Given the description of an element on the screen output the (x, y) to click on. 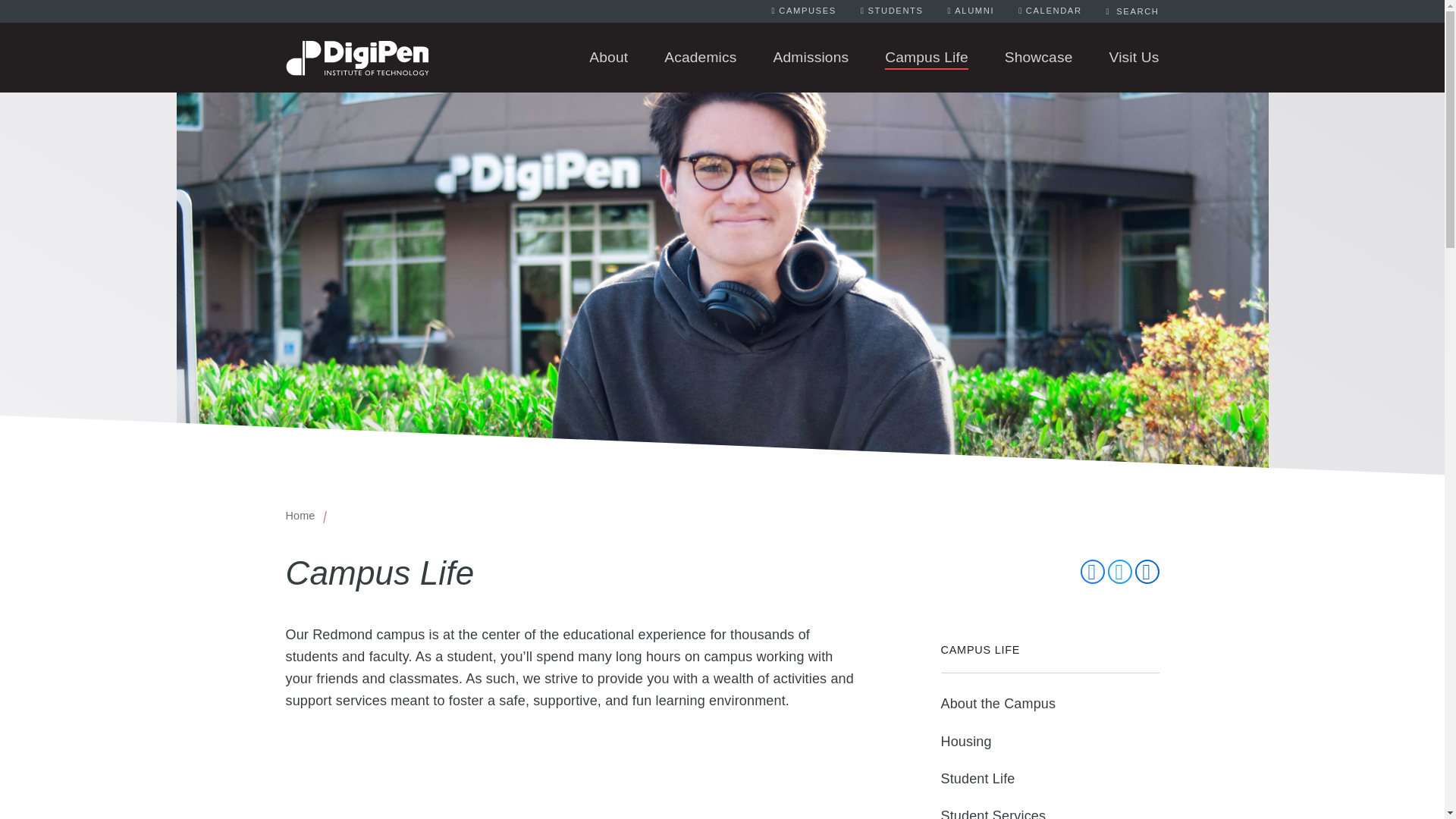
Admissions (792, 56)
DigiPen Institute of Technology (356, 57)
Academics (681, 56)
Homepage (356, 41)
CALENDAR (1049, 11)
DigiPen Institute of Technology (356, 41)
About (590, 56)
ALUMNI (970, 11)
STUDENTS (891, 11)
